Given the description of an element on the screen output the (x, y) to click on. 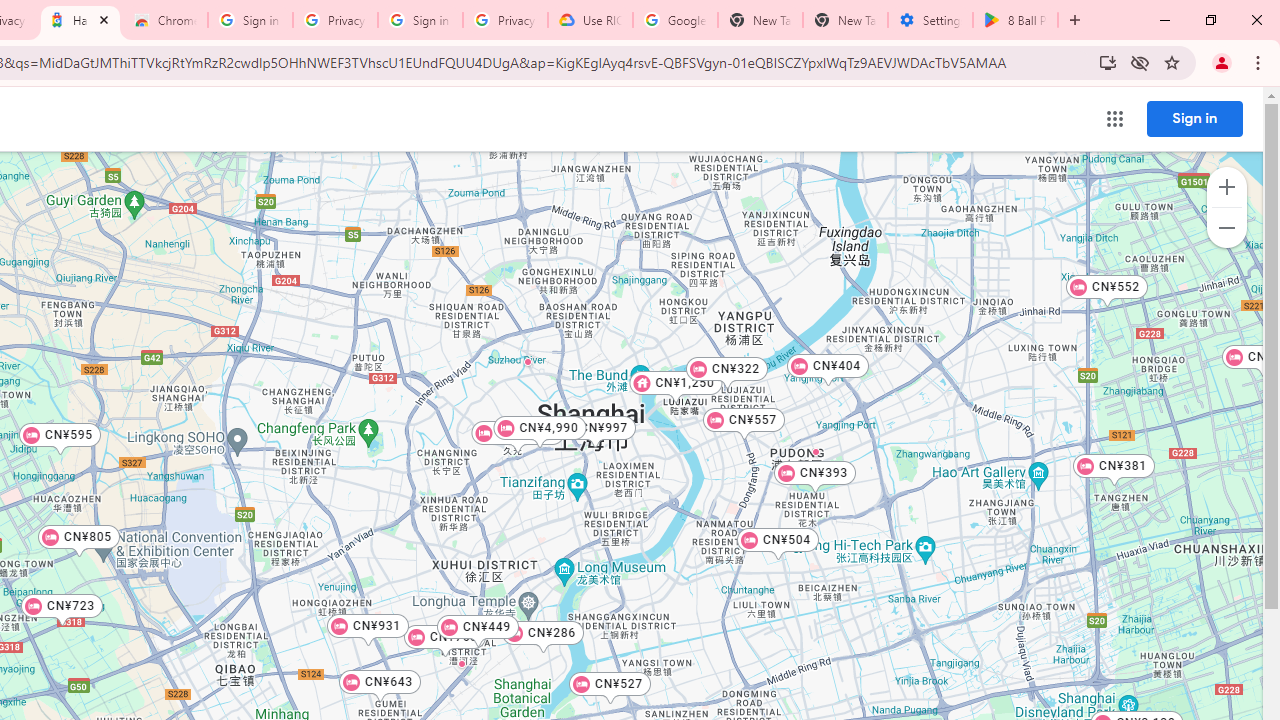
Install Trips all in one place (1107, 62)
